Given the description of an element on the screen output the (x, y) to click on. 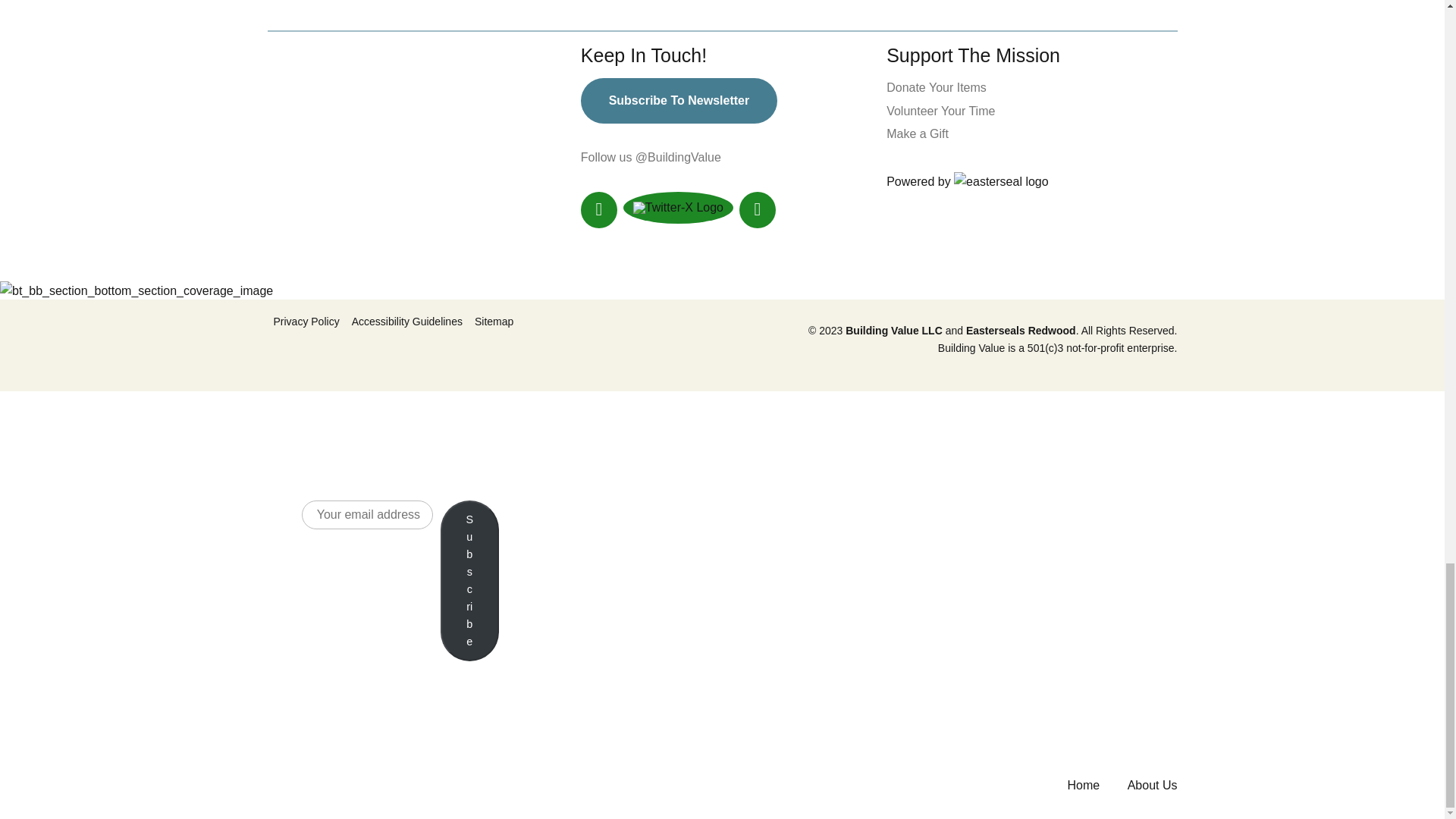
Make a Gift (917, 133)
Subscribe To Newsletter (678, 100)
Building Value LLC (893, 330)
Privacy Policy (306, 321)
Subscribe To Newsletter (678, 100)
Easterseals Redwood (1018, 330)
Accessibility Guidelines (407, 321)
Volunteer Your Time (940, 110)
Support The Mission (972, 55)
Donate Your Items (936, 87)
Support The Mission (972, 55)
Sitemap (493, 321)
